Given the description of an element on the screen output the (x, y) to click on. 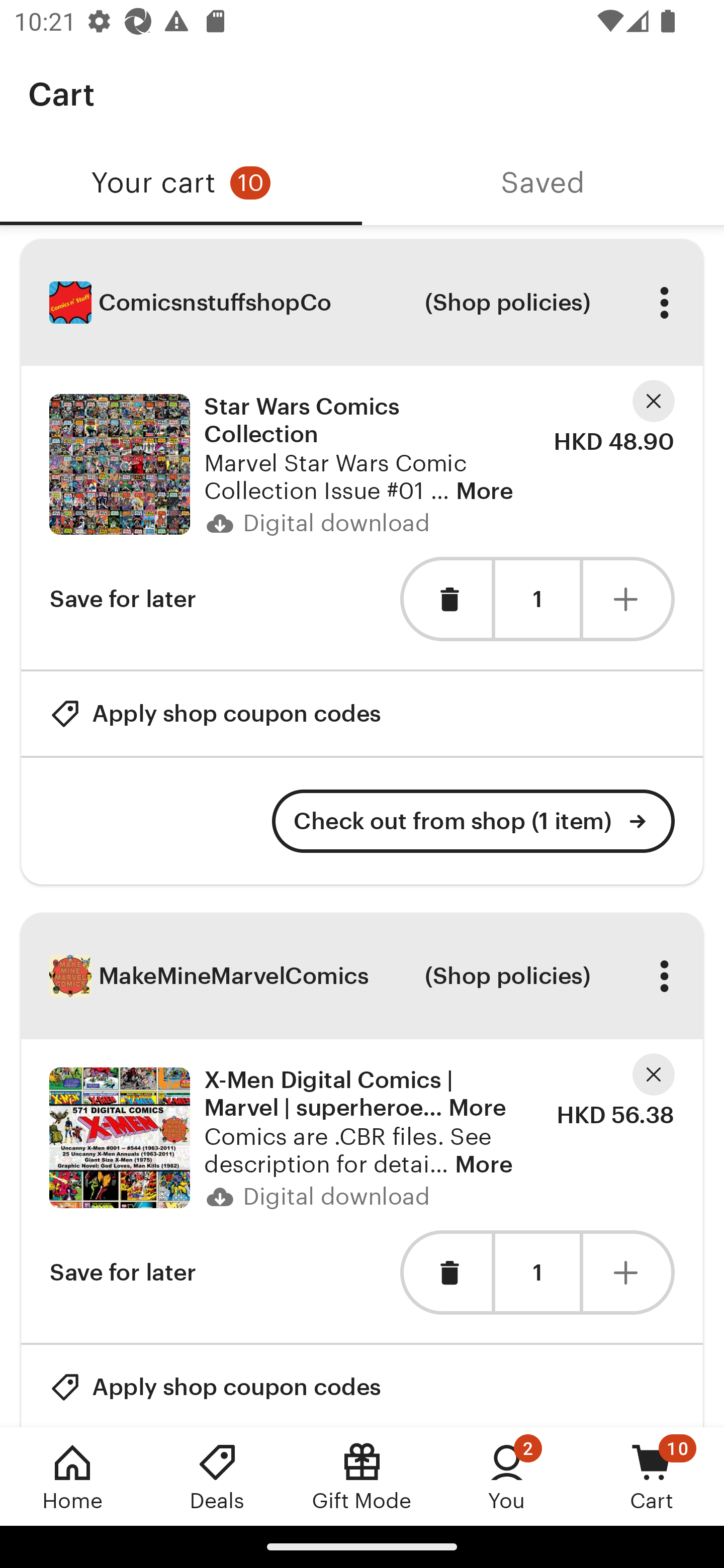
Saved, tab 2 of 2 Saved (543, 183)
ComicsnstuffshopCo (Shop policies) More options (361, 302)
(Shop policies) (507, 302)
More options (663, 302)
Star Wars Comics Collection (119, 463)
Save for later (122, 598)
Remove item from cart (445, 598)
Add one unit to cart (628, 598)
1 (537, 598)
Apply shop coupon codes (215, 713)
Check out from shop (1 item) (473, 821)
MakeMineMarvelComics (Shop policies) More options (361, 975)
(Shop policies) (507, 975)
More options (663, 975)
Save for later (122, 1271)
Remove item from cart (445, 1271)
Add one unit to cart (628, 1271)
1 (537, 1272)
Apply shop coupon codes (215, 1385)
Home (72, 1475)
Deals (216, 1475)
Gift Mode (361, 1475)
You, 2 new notifications You (506, 1475)
